Given the description of an element on the screen output the (x, y) to click on. 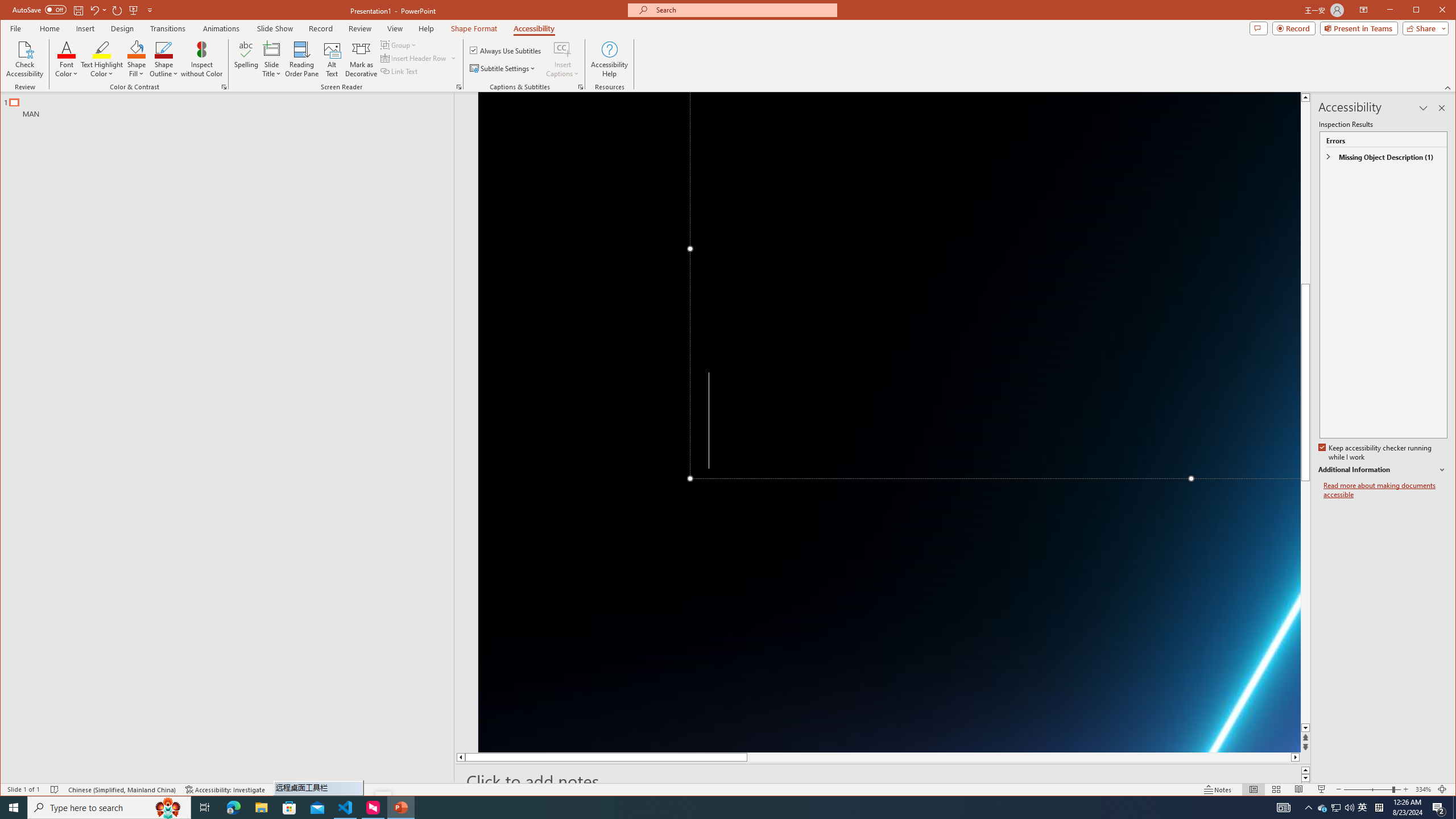
Page down (1305, 603)
Shape Fill Orange, Accent 2 (1322, 807)
Reading Order Pane (136, 48)
Tray Input Indicator - Chinese (Simplified, China) (301, 59)
Font Color Red (1378, 807)
User Promoted Notification Area (66, 48)
Slide Title (1336, 807)
